Given the description of an element on the screen output the (x, y) to click on. 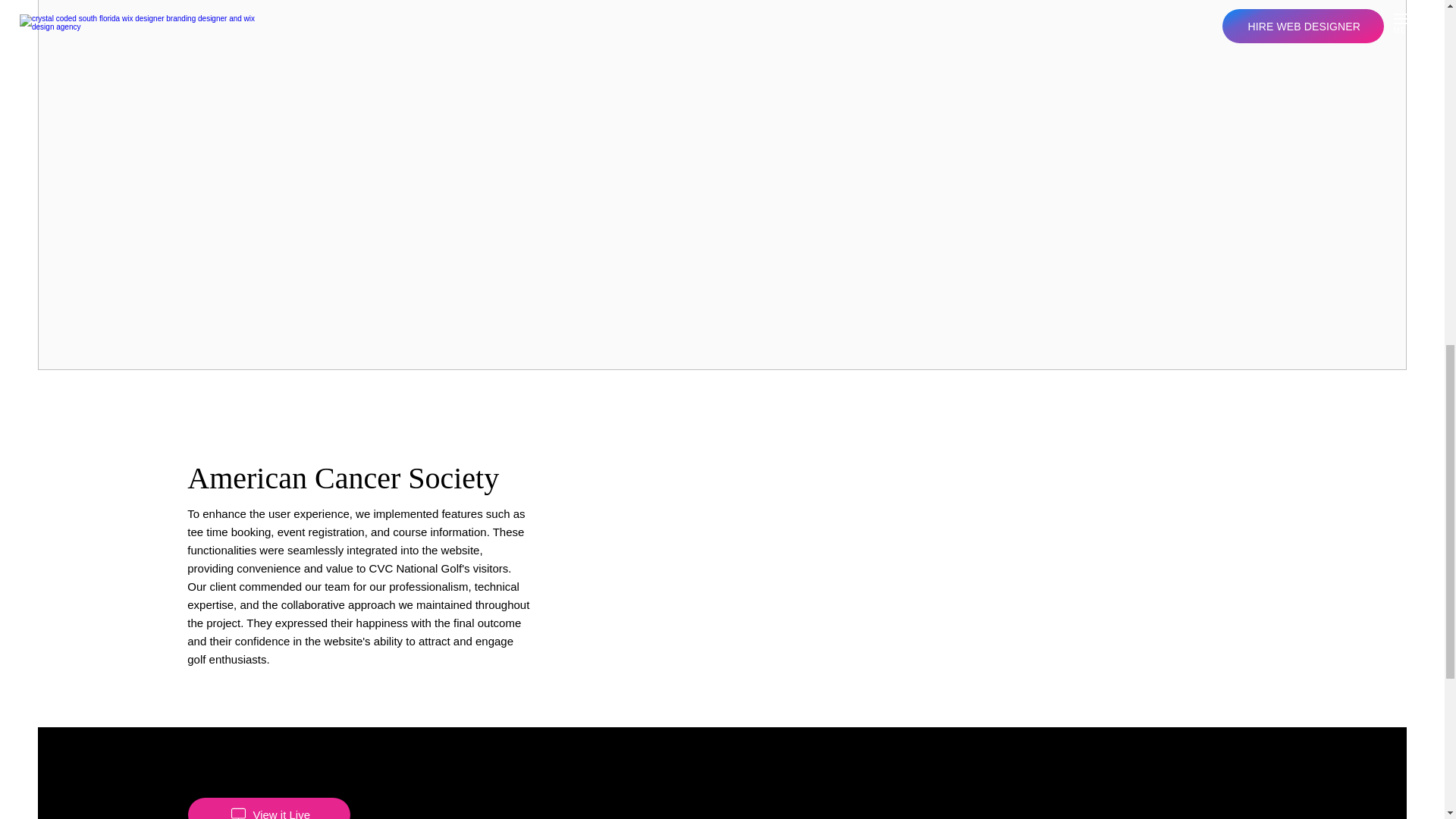
View it Live (268, 808)
